Given the description of an element on the screen output the (x, y) to click on. 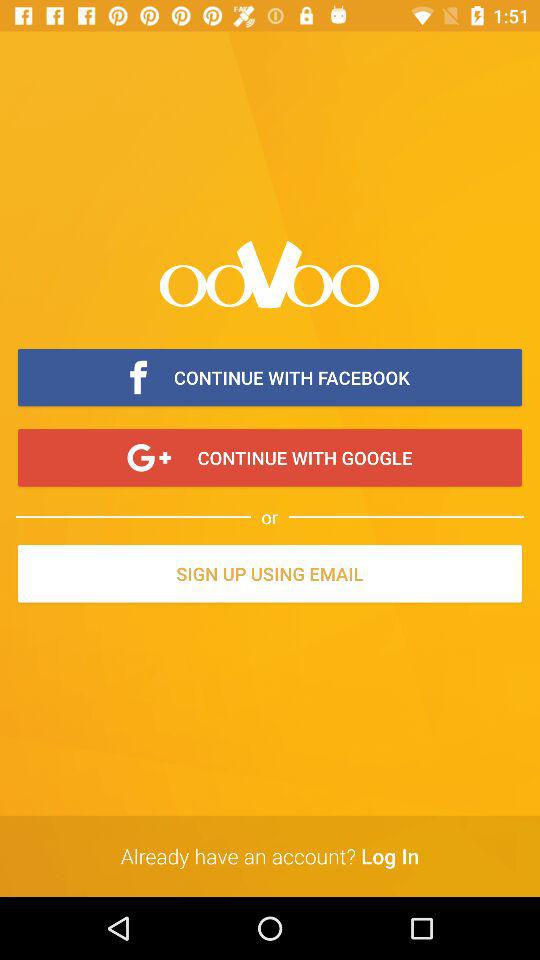
click the item below the or (269, 575)
